Given the description of an element on the screen output the (x, y) to click on. 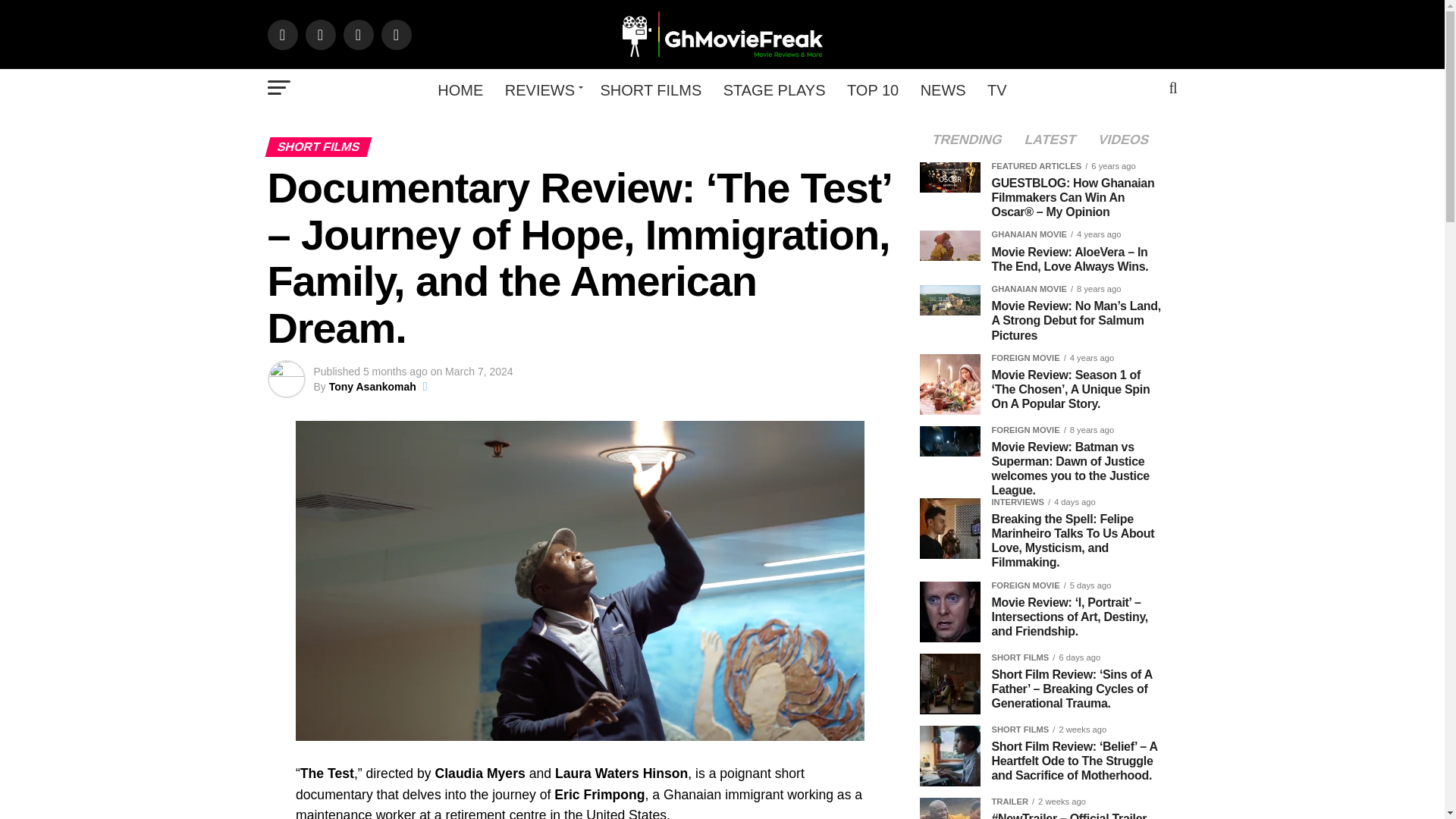
TOP 10 (872, 89)
SHORT FILMS (650, 89)
NEWS (943, 89)
STAGE PLAYS (774, 89)
TV (997, 89)
REVIEWS (542, 89)
HOME (460, 89)
